Given the description of an element on the screen output the (x, y) to click on. 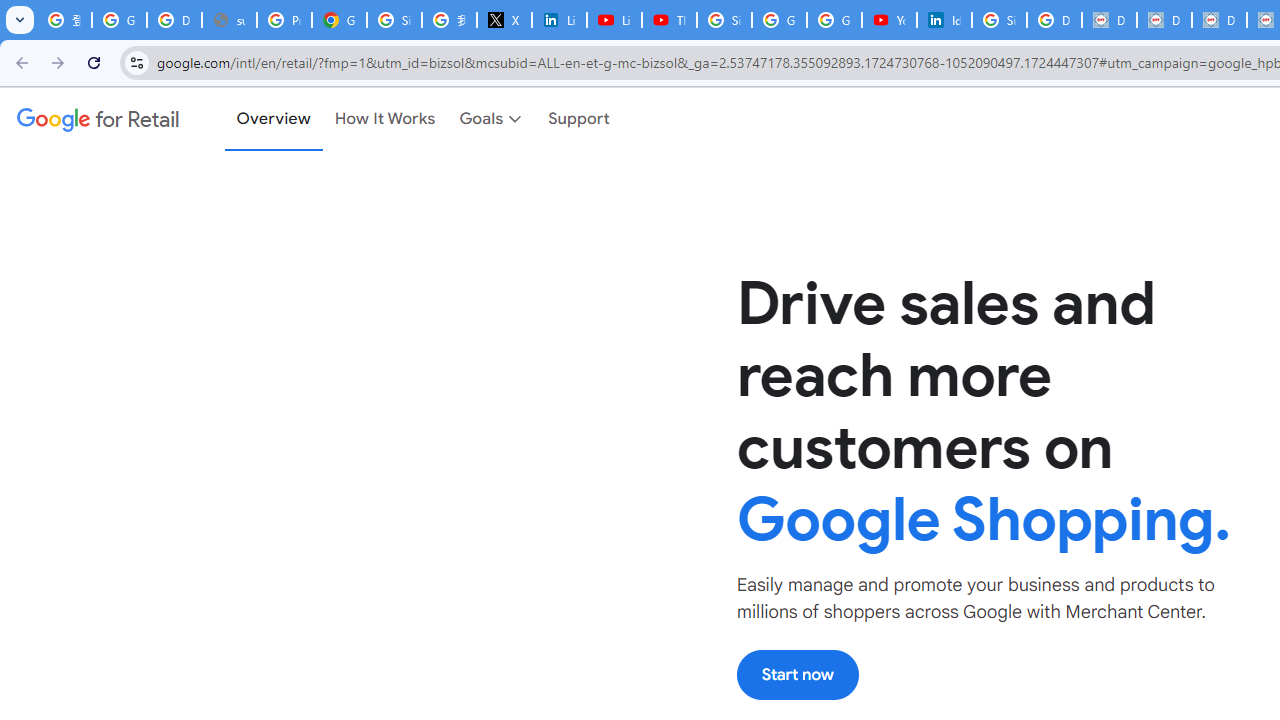
Data Privacy Framework (1108, 20)
Data Privacy Framework (1163, 20)
LinkedIn Privacy Policy (559, 20)
